Given the description of an element on the screen output the (x, y) to click on. 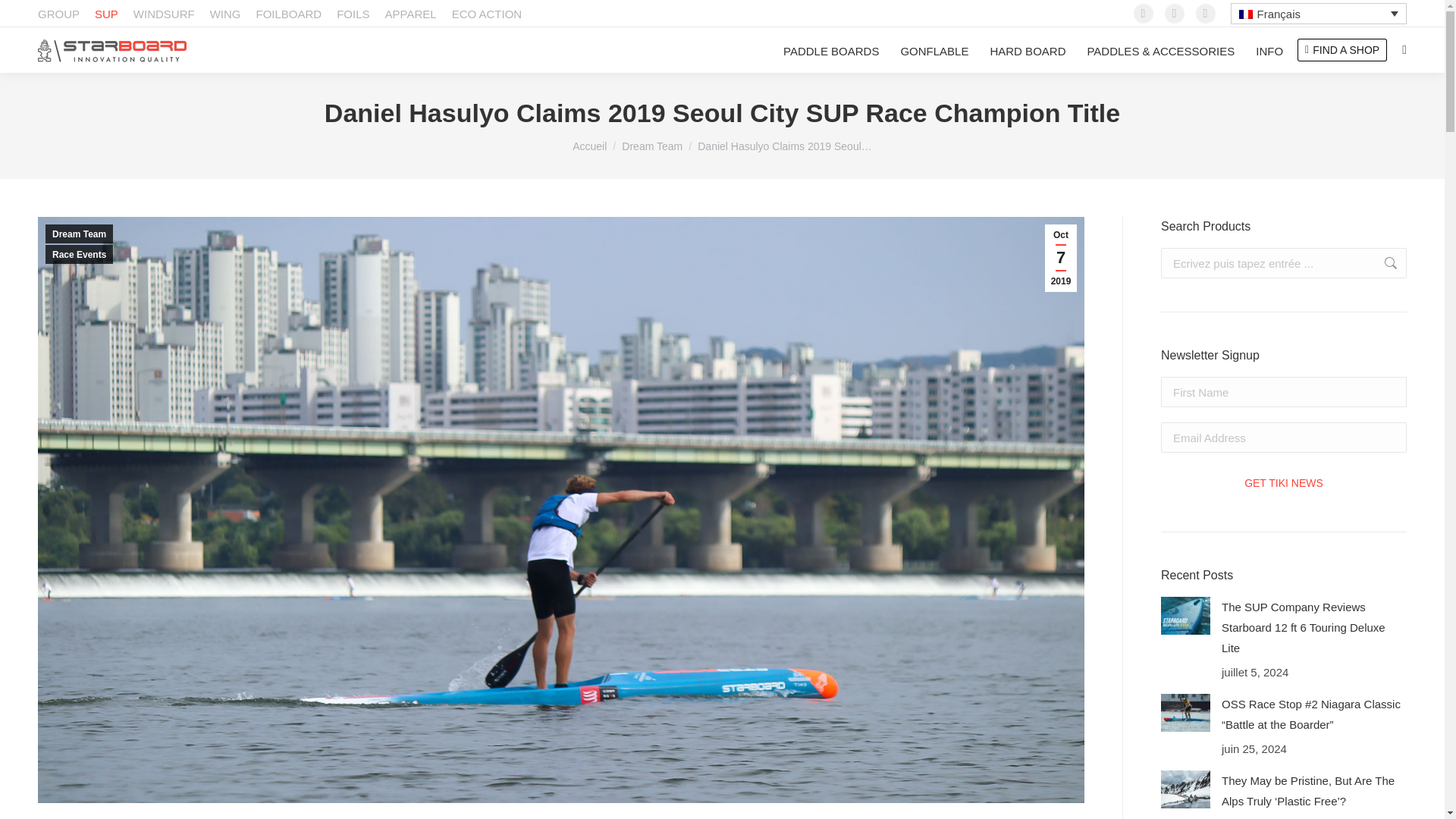
Instagram page opens in new window (1174, 13)
Instagram page opens in new window (1174, 13)
FOILS (352, 13)
WING (225, 13)
GROUP (58, 13)
Facebook page opens in new window (1143, 13)
APPAREL (410, 13)
Go! (1382, 263)
Facebook page opens in new window (1143, 13)
WINDSURF (164, 13)
Go! (1382, 263)
YouTube page opens in new window (1205, 13)
FOILBOARD (288, 13)
Accueil (589, 146)
Dream Team (651, 146)
